Given the description of an element on the screen output the (x, y) to click on. 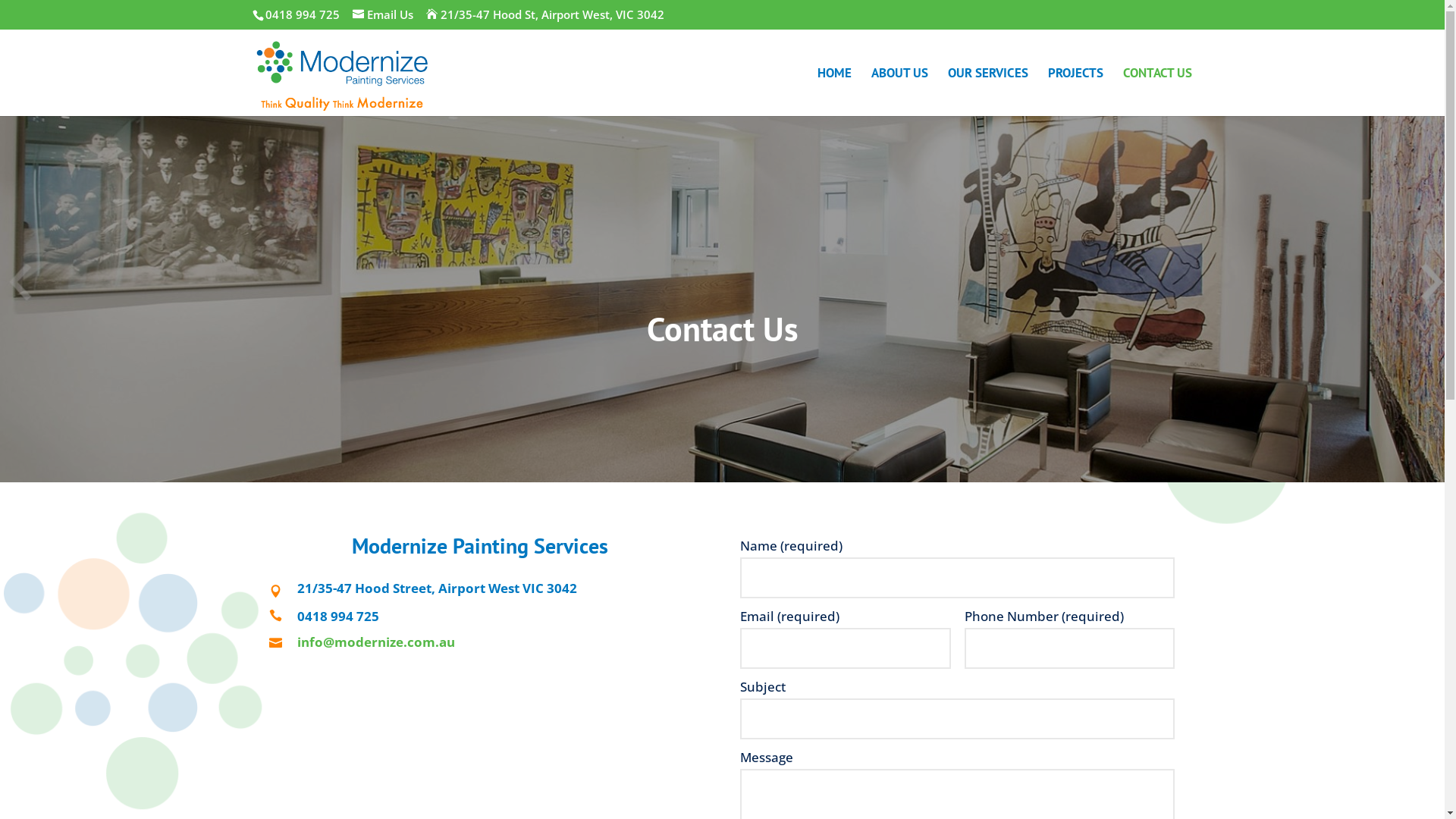
0418 994 725 Element type: text (338, 615)
HOME Element type: text (834, 90)
OUR SERVICES Element type: text (987, 90)
Email Us Element type: text (382, 13)
PROJECTS Element type: text (1075, 90)
info@modernize.com.au Element type: text (376, 641)
CONTACT US Element type: text (1157, 90)
ABOUT US Element type: text (899, 90)
